Given the description of an element on the screen output the (x, y) to click on. 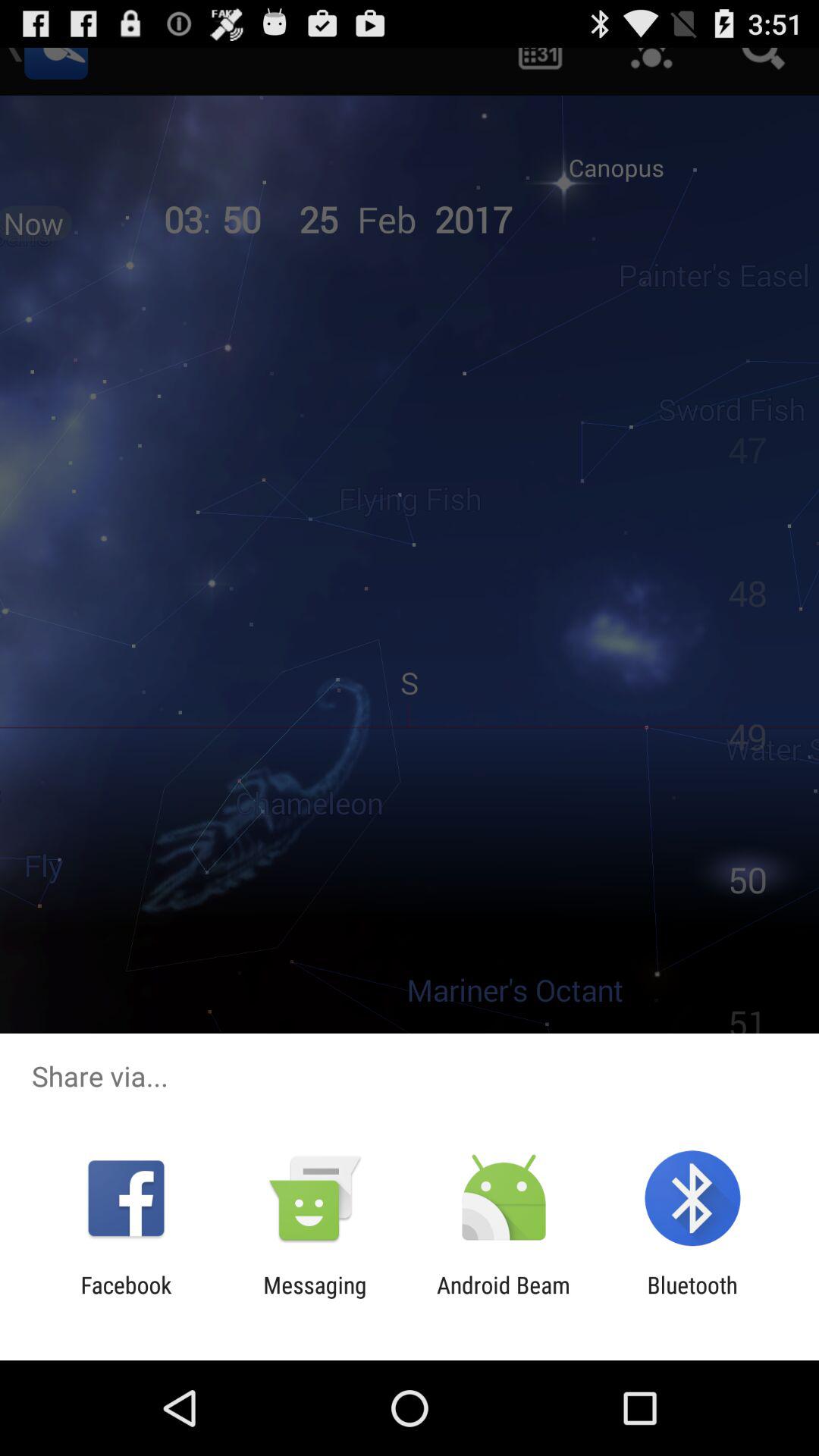
click the android beam (503, 1298)
